Given the description of an element on the screen output the (x, y) to click on. 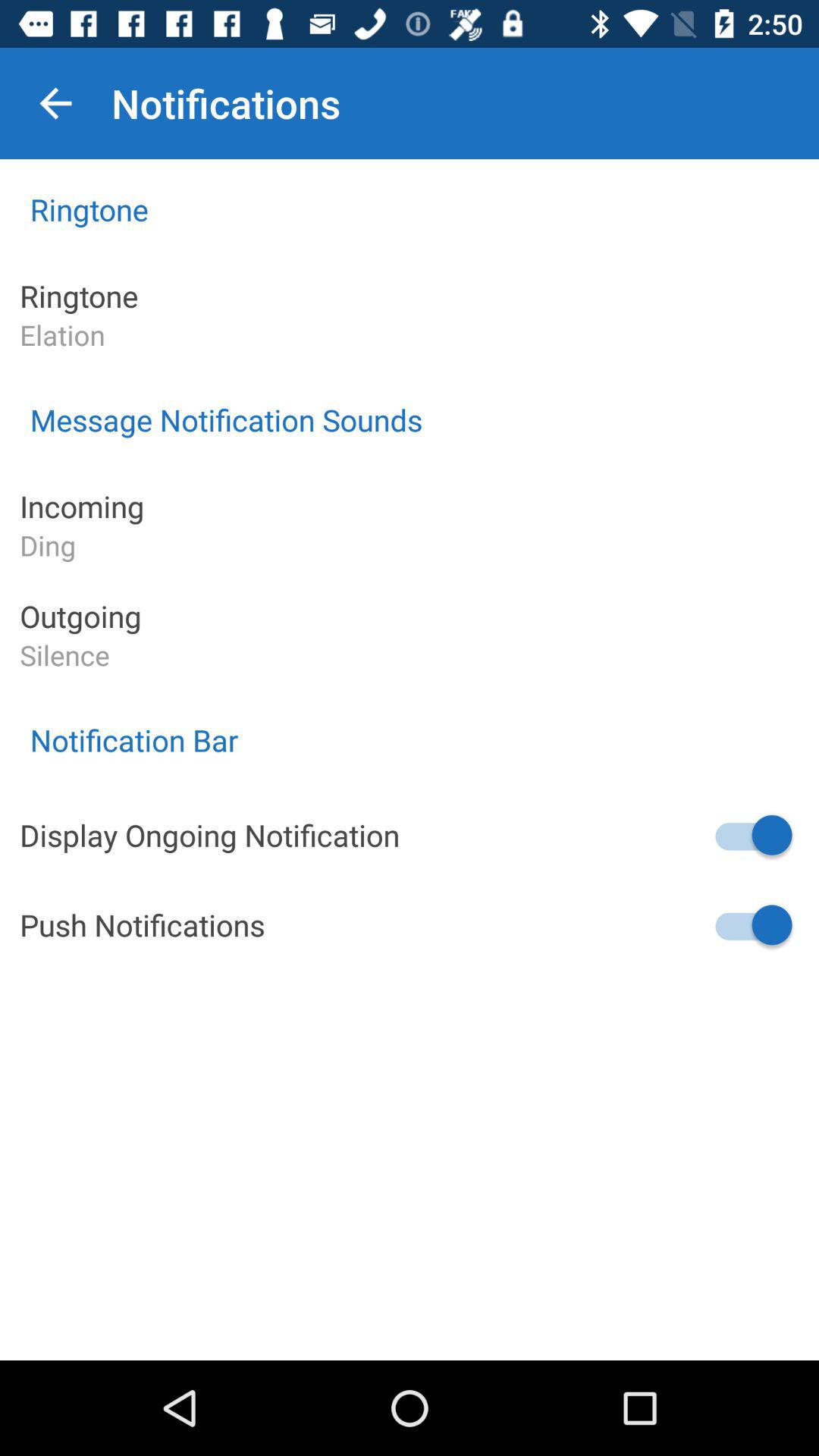
turn off icon next to notifications icon (55, 103)
